Given the description of an element on the screen output the (x, y) to click on. 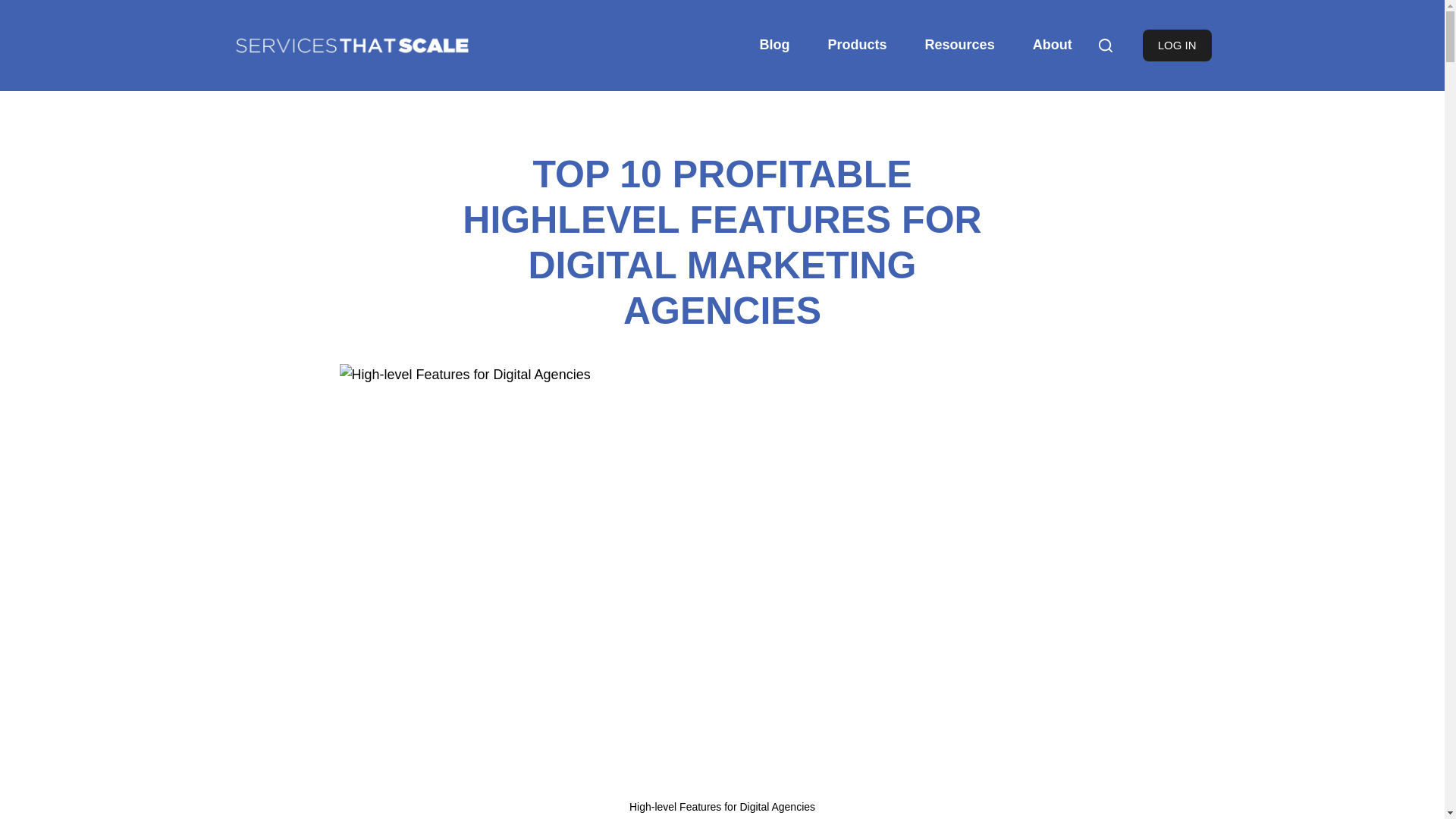
Products (857, 45)
Skip to content (15, 7)
Blog (775, 45)
Blog (629, 590)
LOG IN (1176, 45)
Resources (959, 45)
About (1051, 45)
